Given the description of an element on the screen output the (x, y) to click on. 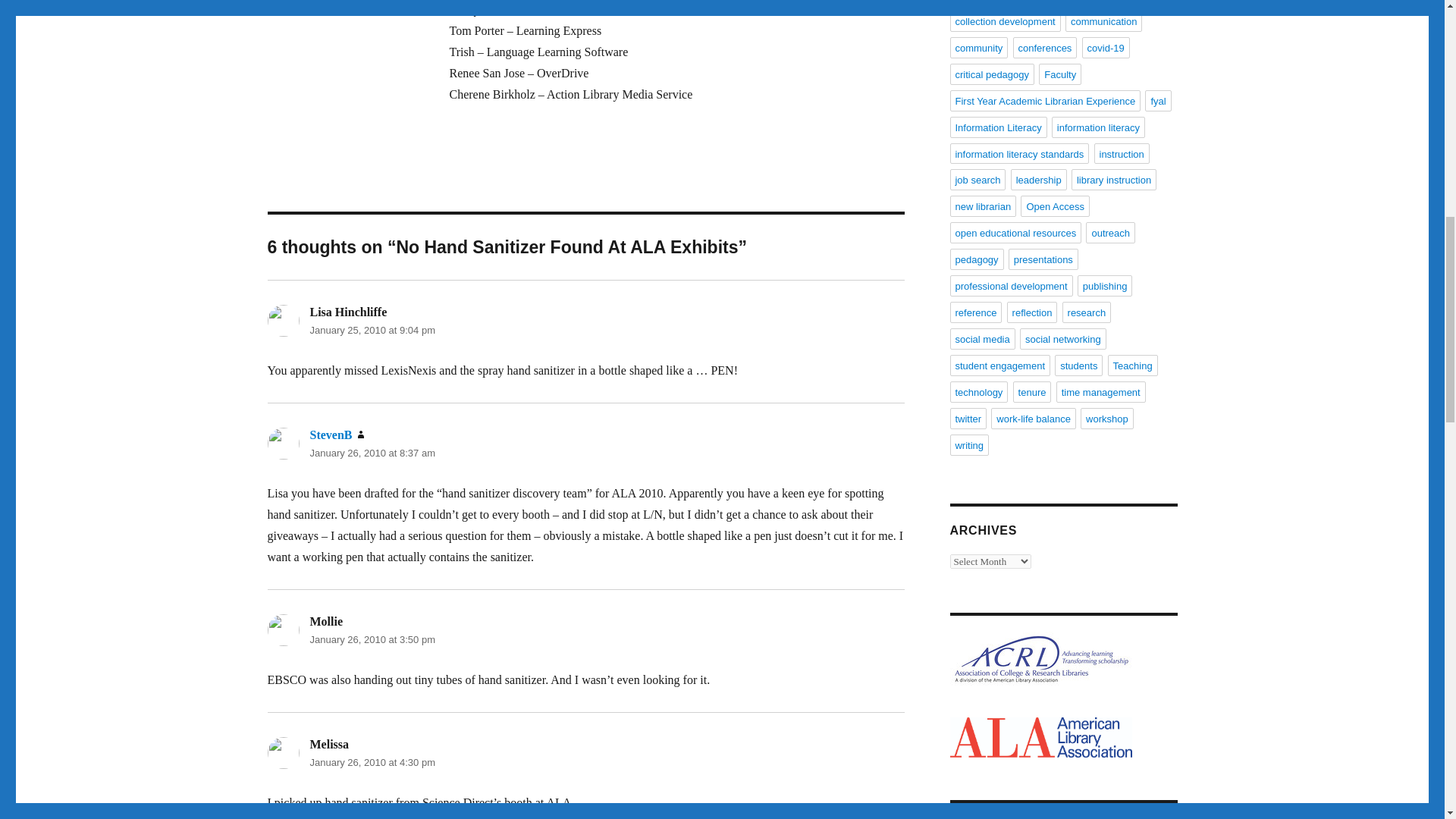
January 26, 2010 at 4:30 pm (371, 762)
StevenB (330, 434)
January 26, 2010 at 8:37 am (371, 452)
January 26, 2010 at 3:50 pm (371, 639)
January 25, 2010 at 9:04 pm (371, 329)
